Given the description of an element on the screen output the (x, y) to click on. 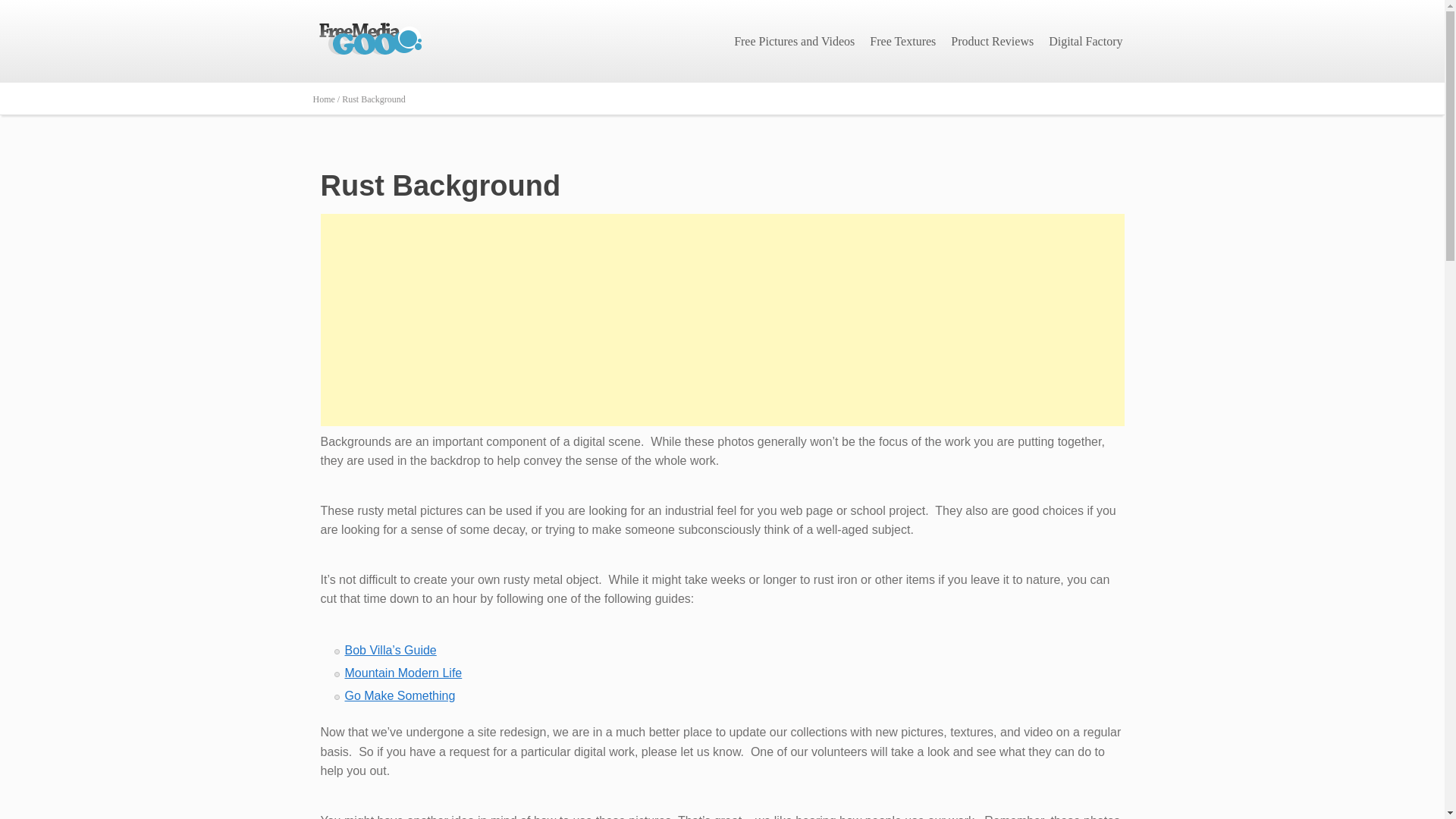
Mountain Modern Life (402, 672)
Free Textures (902, 41)
Product Reviews (992, 41)
Rust Background (440, 185)
Digital Factory (1085, 41)
Go Make Something (398, 695)
Free Pictures and Videos (793, 41)
